Given the description of an element on the screen output the (x, y) to click on. 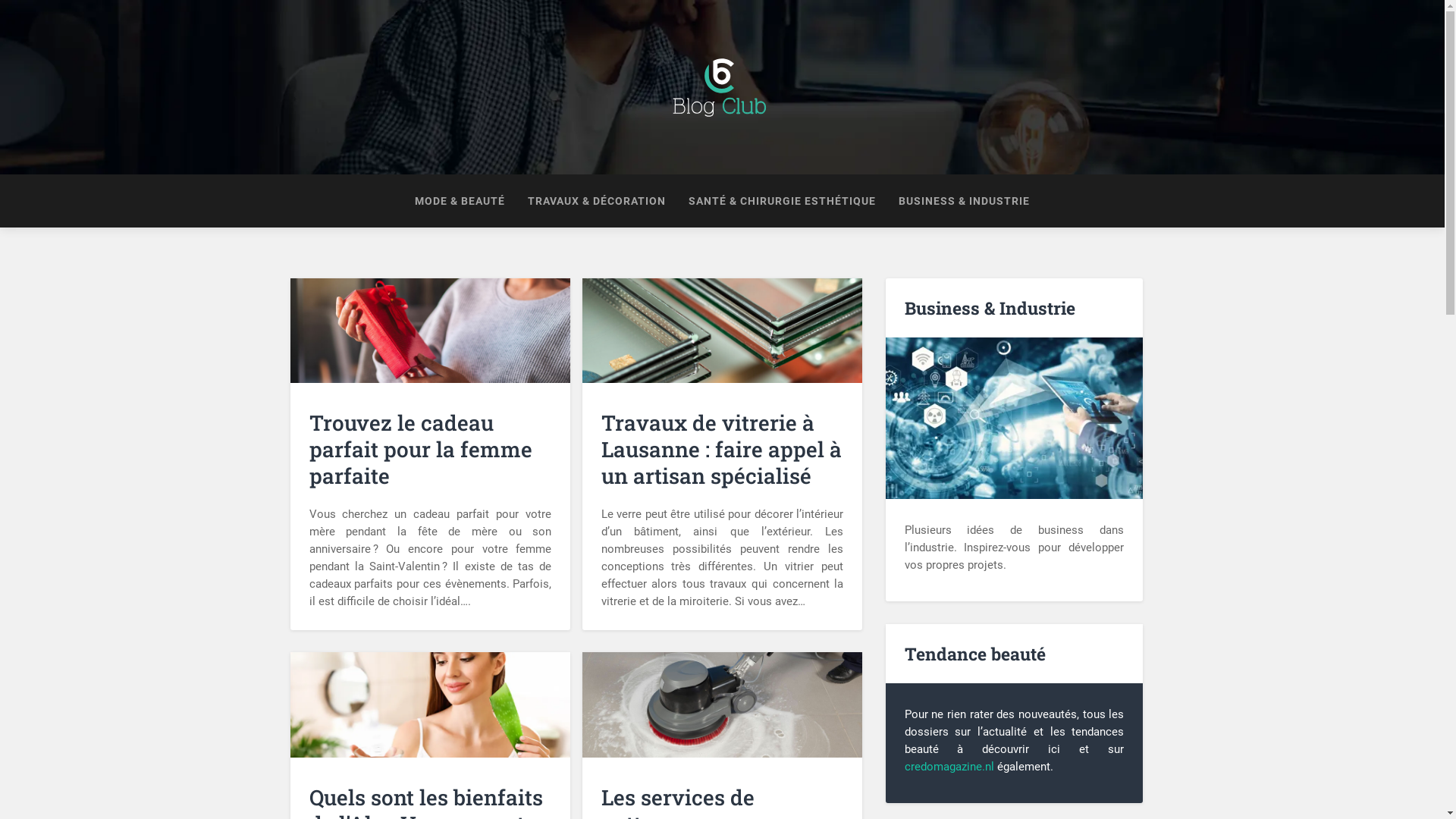
BUSINESS & INDUSTRIE Element type: text (963, 200)
Business & Industrie Element type: hover (1014, 417)
credomagazine.nl Element type: text (948, 766)
Trouvez le cadeau parfait pour la femme parfaite Element type: text (430, 457)
